Given the description of an element on the screen output the (x, y) to click on. 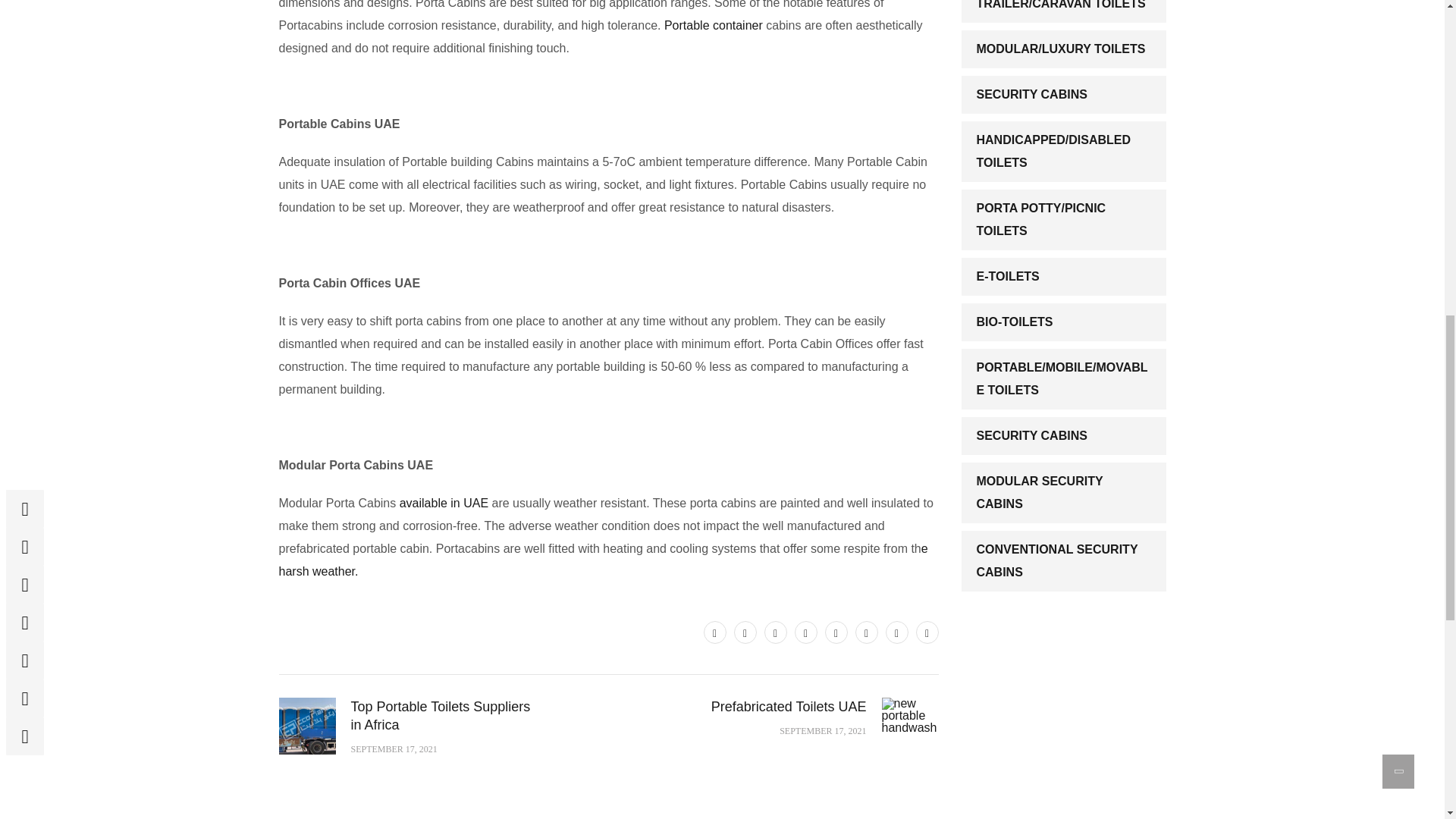
Facebook (745, 631)
Reddit (896, 631)
Pinterest (775, 631)
Tumblr (866, 631)
Twitter (714, 631)
LinkedIn (805, 631)
Google Plus (836, 631)
VK (927, 631)
